Given the description of an element on the screen output the (x, y) to click on. 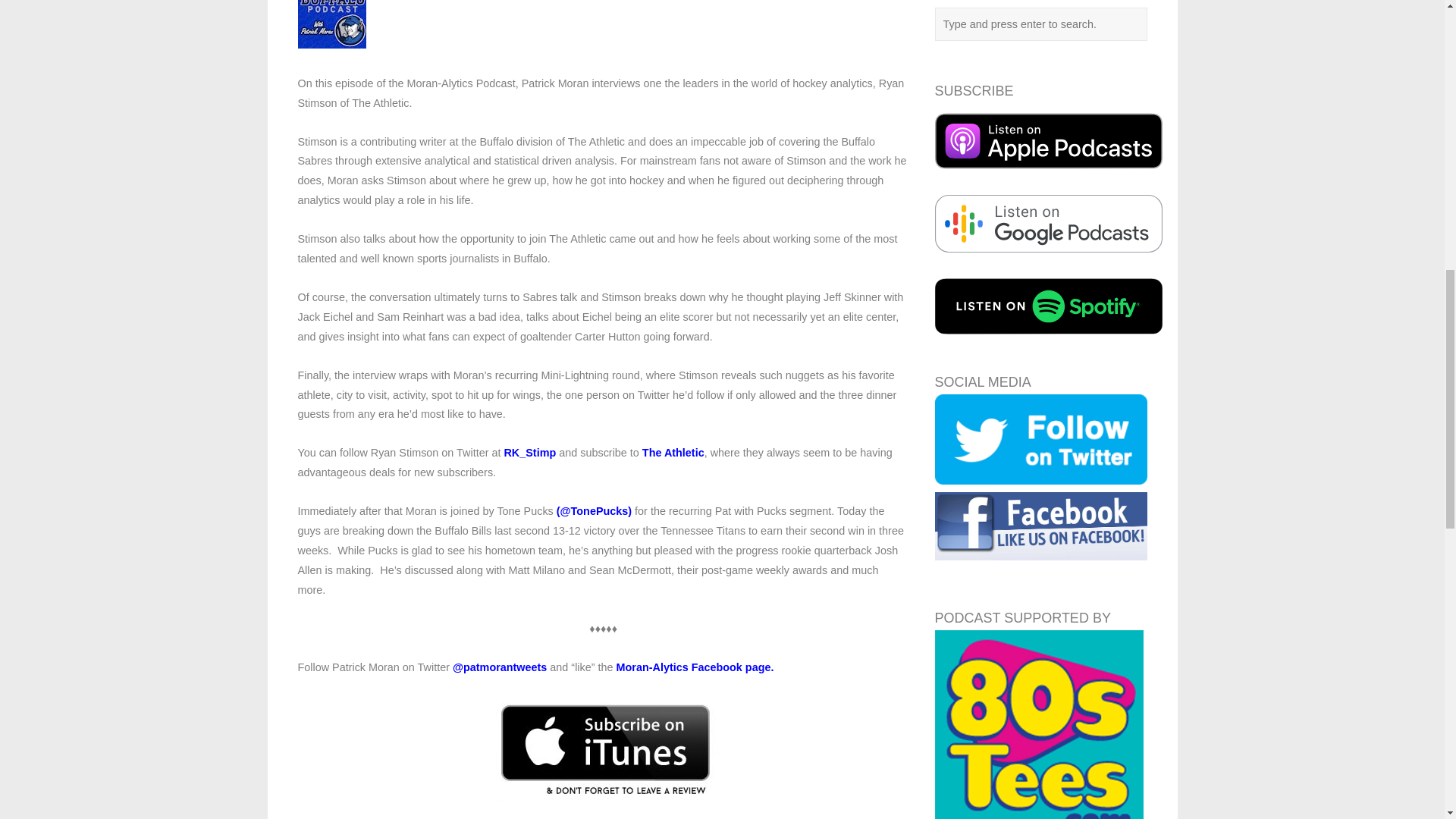
The Athletic (673, 452)
Moran-Alytics Facebook page (693, 666)
